Given the description of an element on the screen output the (x, y) to click on. 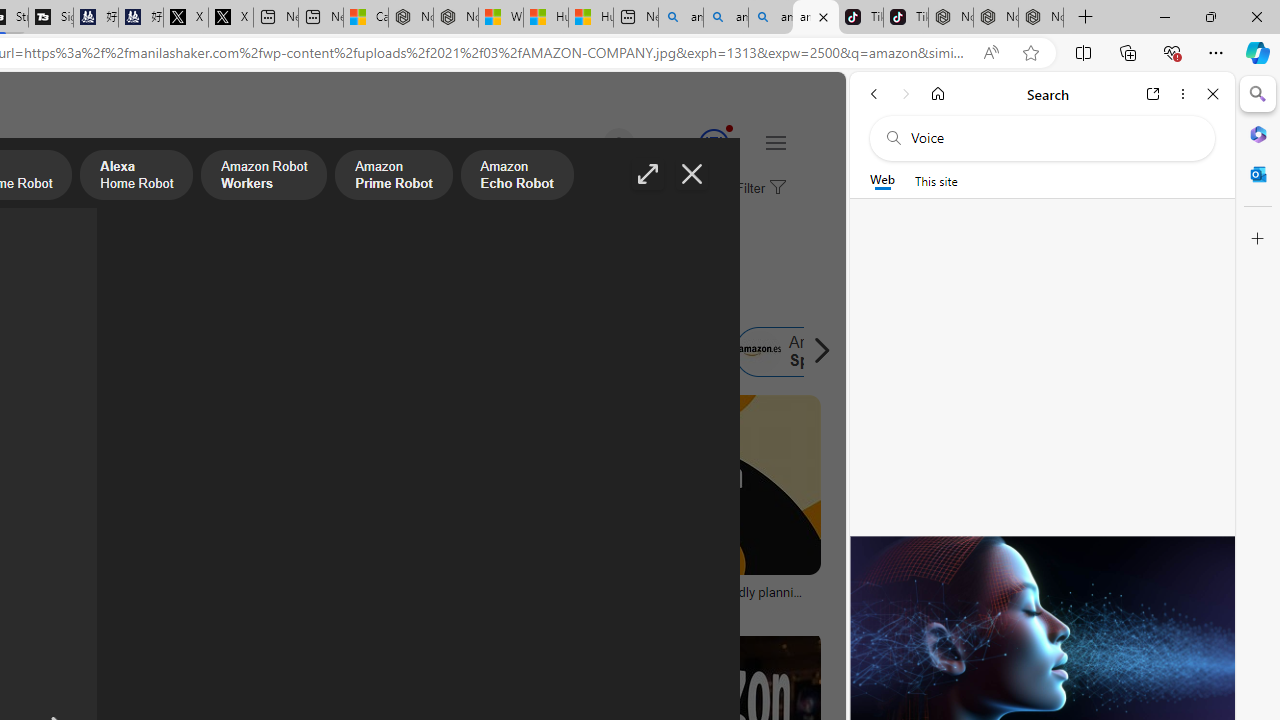
Amazon.com.au (343, 351)
downdetector.ae (368, 606)
